Given the description of an element on the screen output the (x, y) to click on. 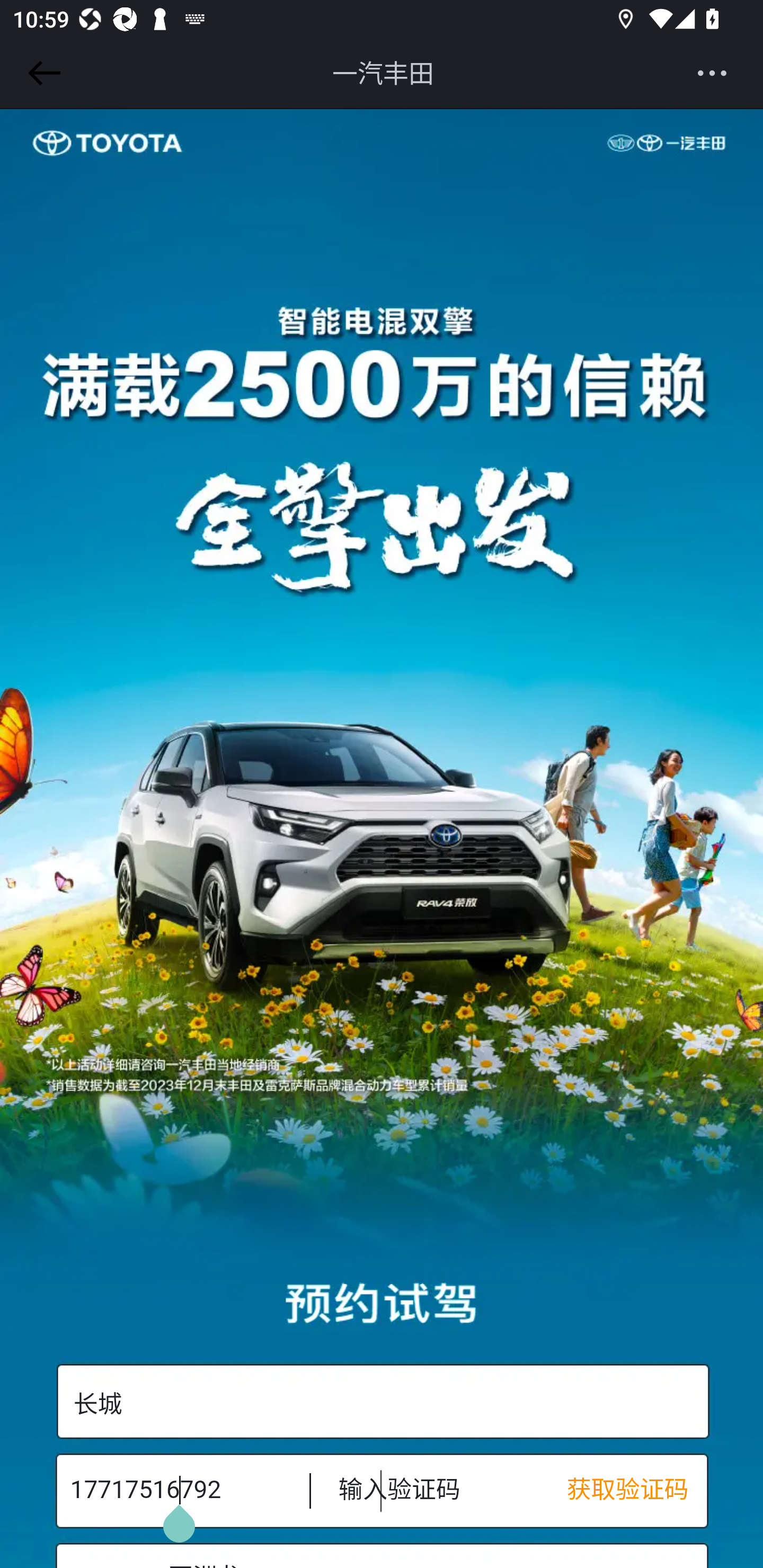
 (41, 72)
长城 (381, 1402)
获取验证码 (637, 1490)
